Given the description of an element on the screen output the (x, y) to click on. 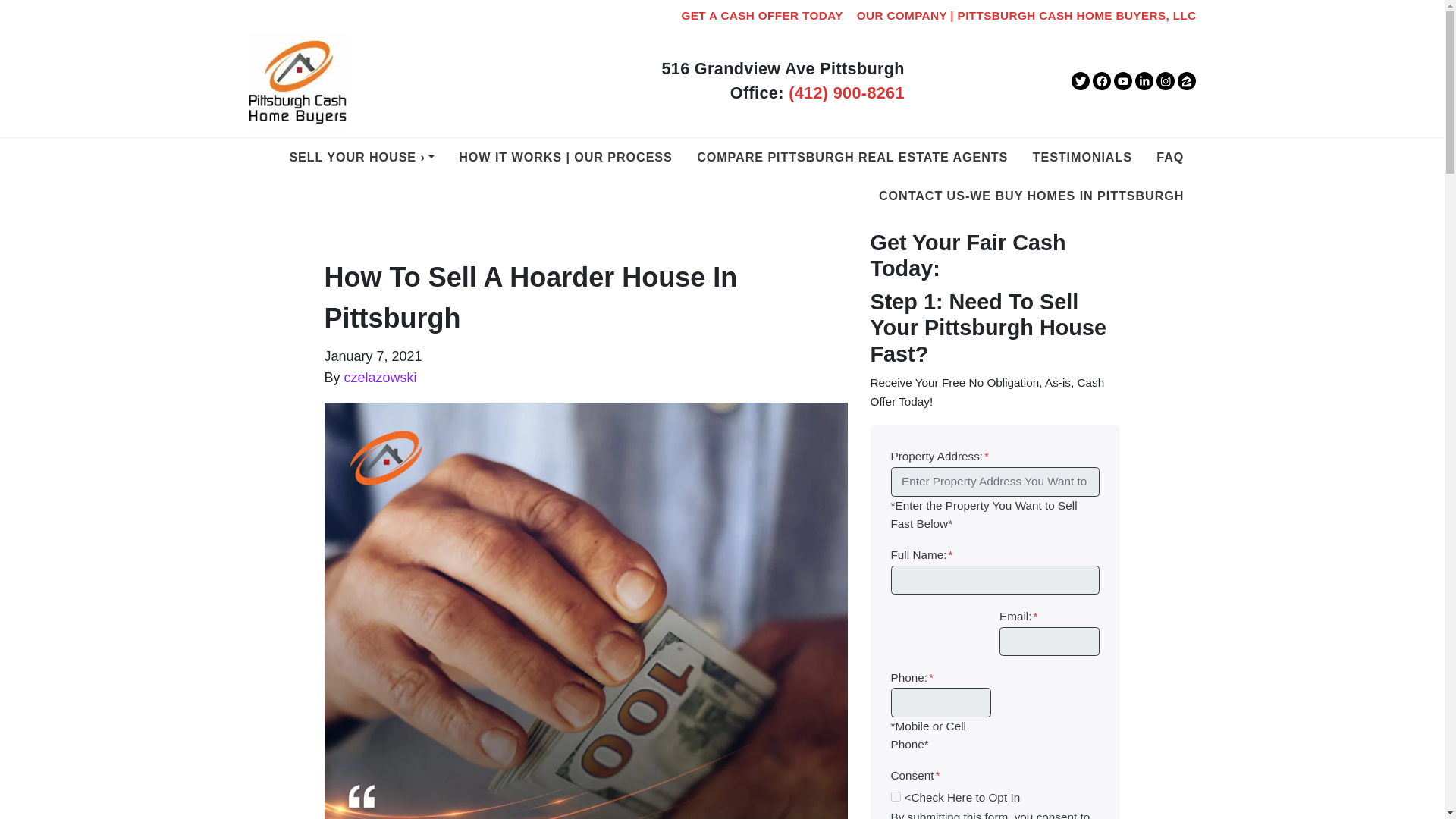
Testimonials (1082, 157)
Twitter (1080, 81)
Zillow (1186, 81)
FAQ (1170, 157)
Instagram (1165, 81)
LinkedIn (1144, 81)
Compare Pittsburgh Real Estate Agents (852, 157)
czelazowski (379, 377)
1 (894, 796)
CONTACT US-WE BUY HOMES IN PITTSBURGH (1031, 196)
